Given the description of an element on the screen output the (x, y) to click on. 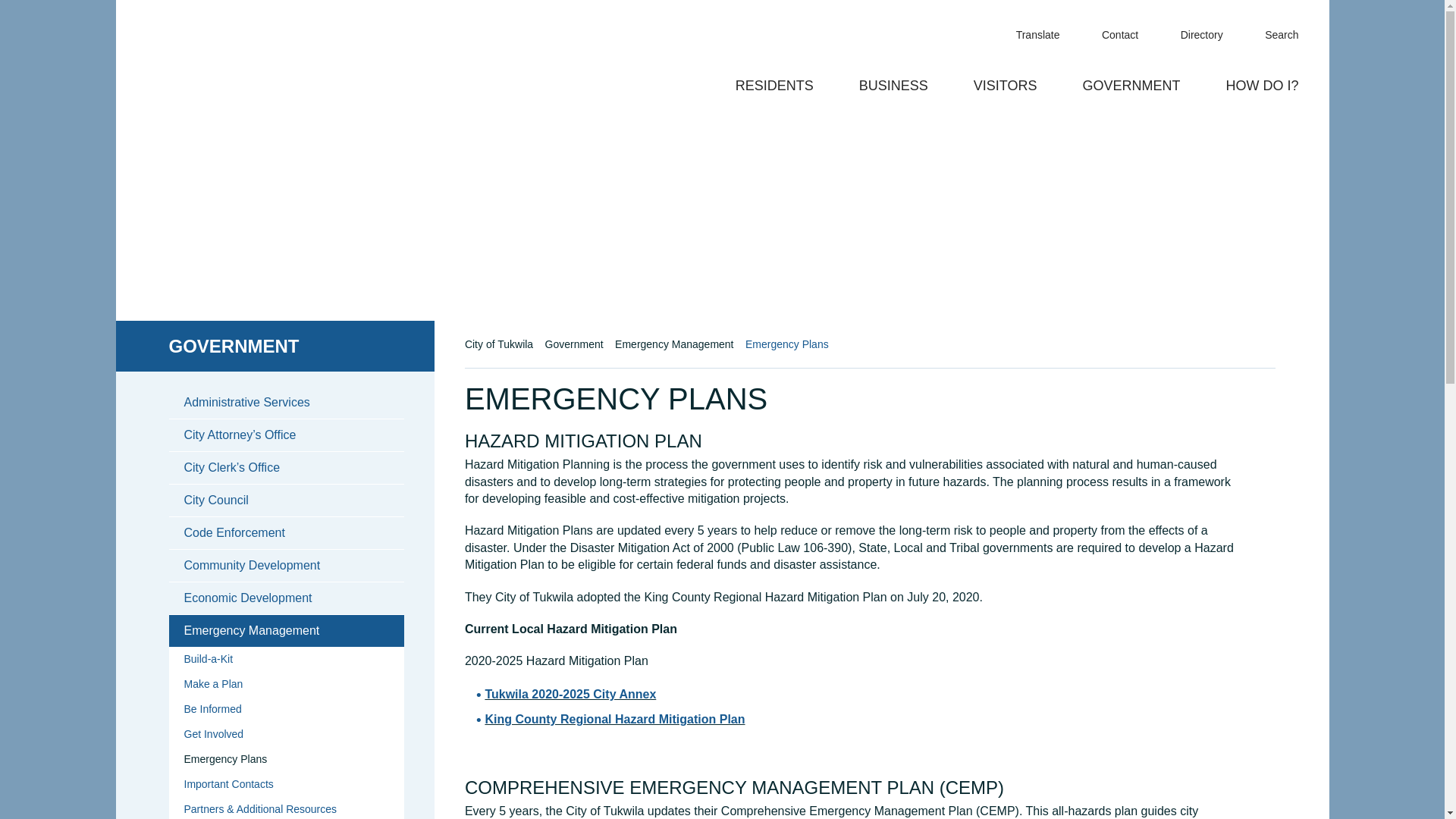
Go to Government. (577, 344)
Directory (1192, 34)
Search (1272, 34)
Go to Emergency Management. (677, 344)
Translate (1028, 34)
Go to City of Tukwila. (502, 344)
RESIDENTS (774, 92)
Search (1300, 24)
City of Tukwila (255, 55)
Search (1300, 24)
